Given the description of an element on the screen output the (x, y) to click on. 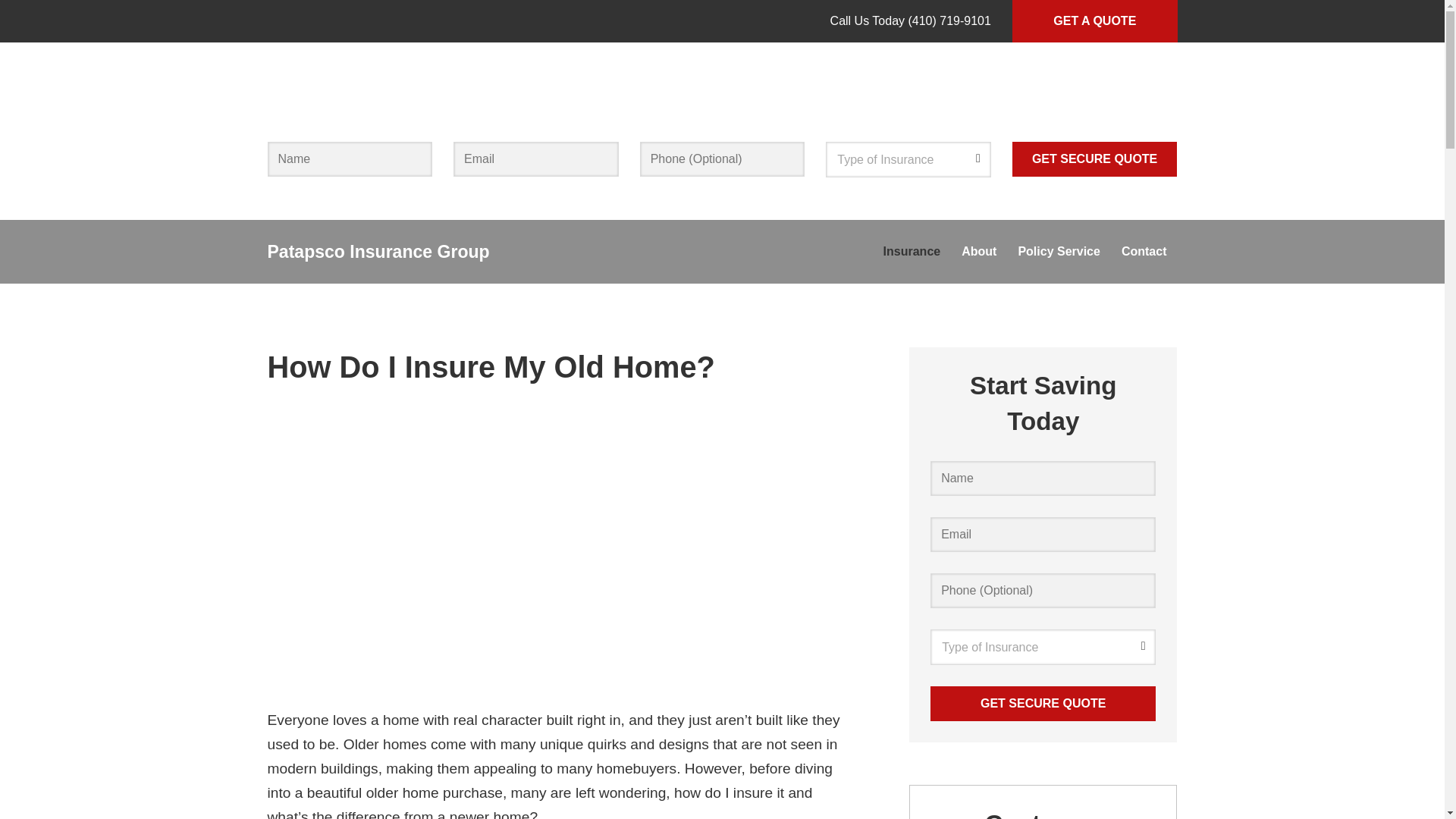
Insurance (912, 251)
About (978, 251)
Get Secure Quote (1043, 703)
Policy Service (1058, 251)
Get Secure Quote (1094, 158)
Patapsco Insurance Group (377, 251)
GET A QUOTE (1094, 21)
Get Secure Quote (1094, 158)
